Given the description of an element on the screen output the (x, y) to click on. 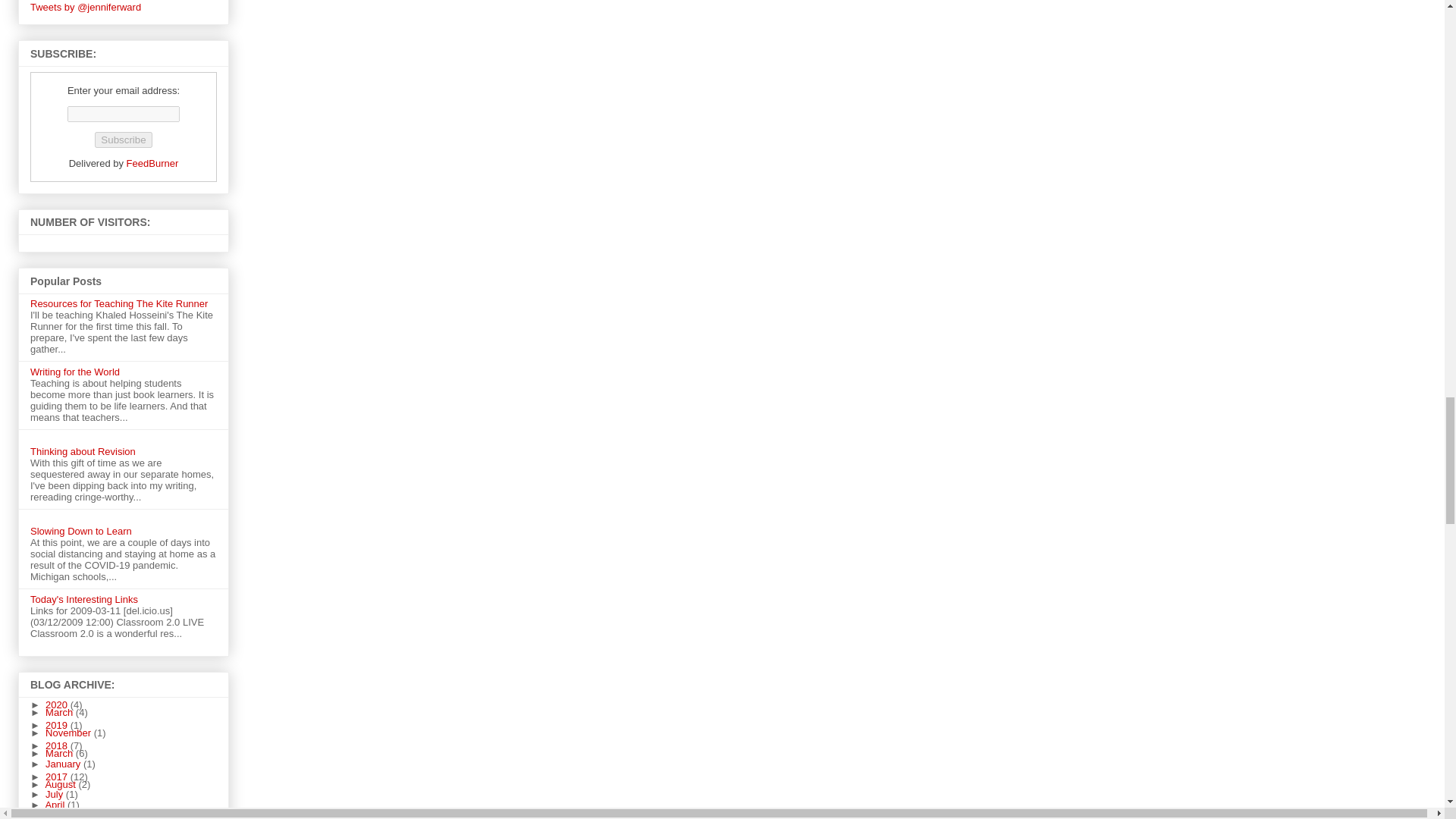
Subscribe (122, 139)
